Given the description of an element on the screen output the (x, y) to click on. 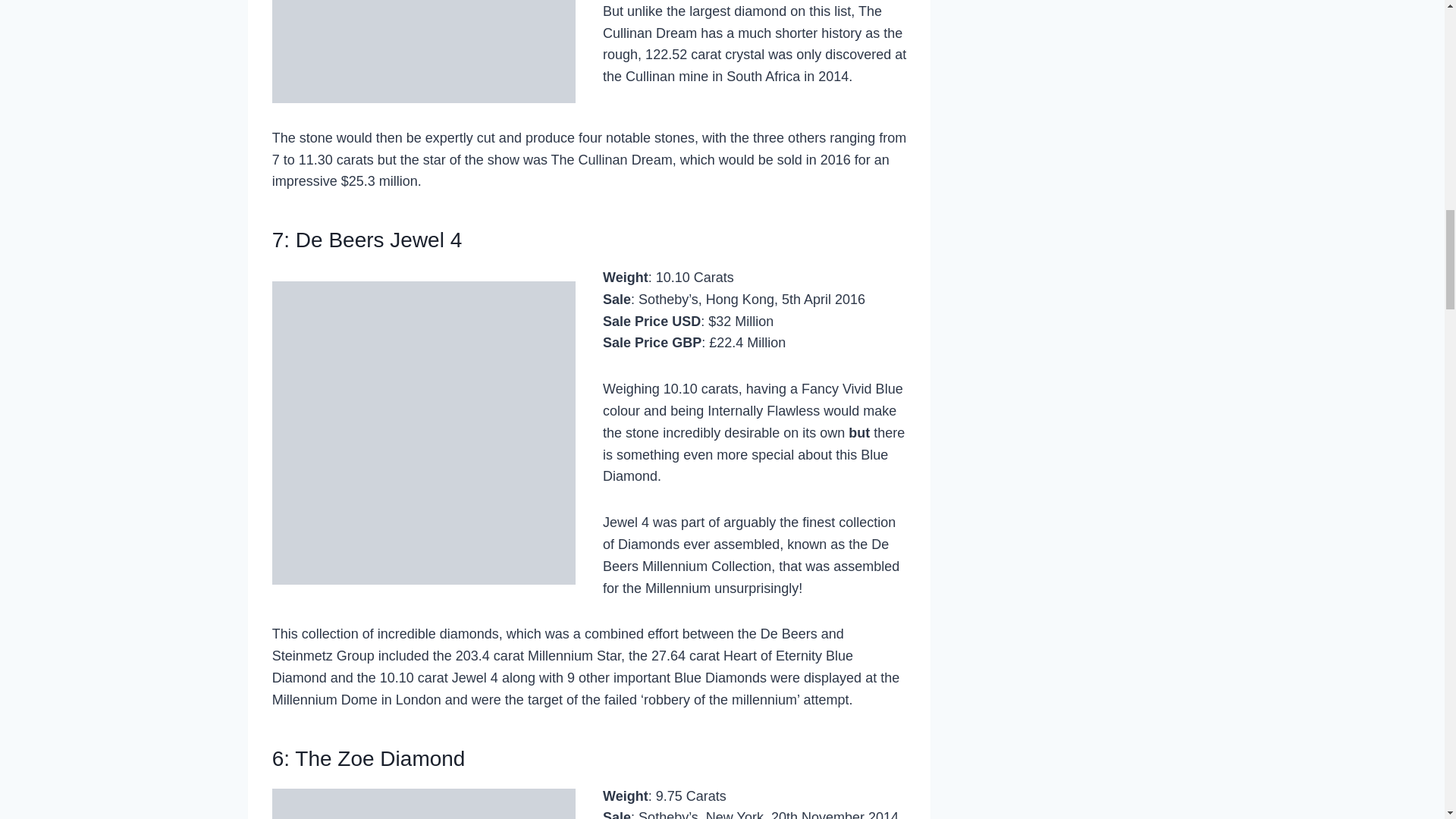
The Zoe Diamond (379, 758)
De Beers Jewel 4 (378, 239)
